Given the description of an element on the screen output the (x, y) to click on. 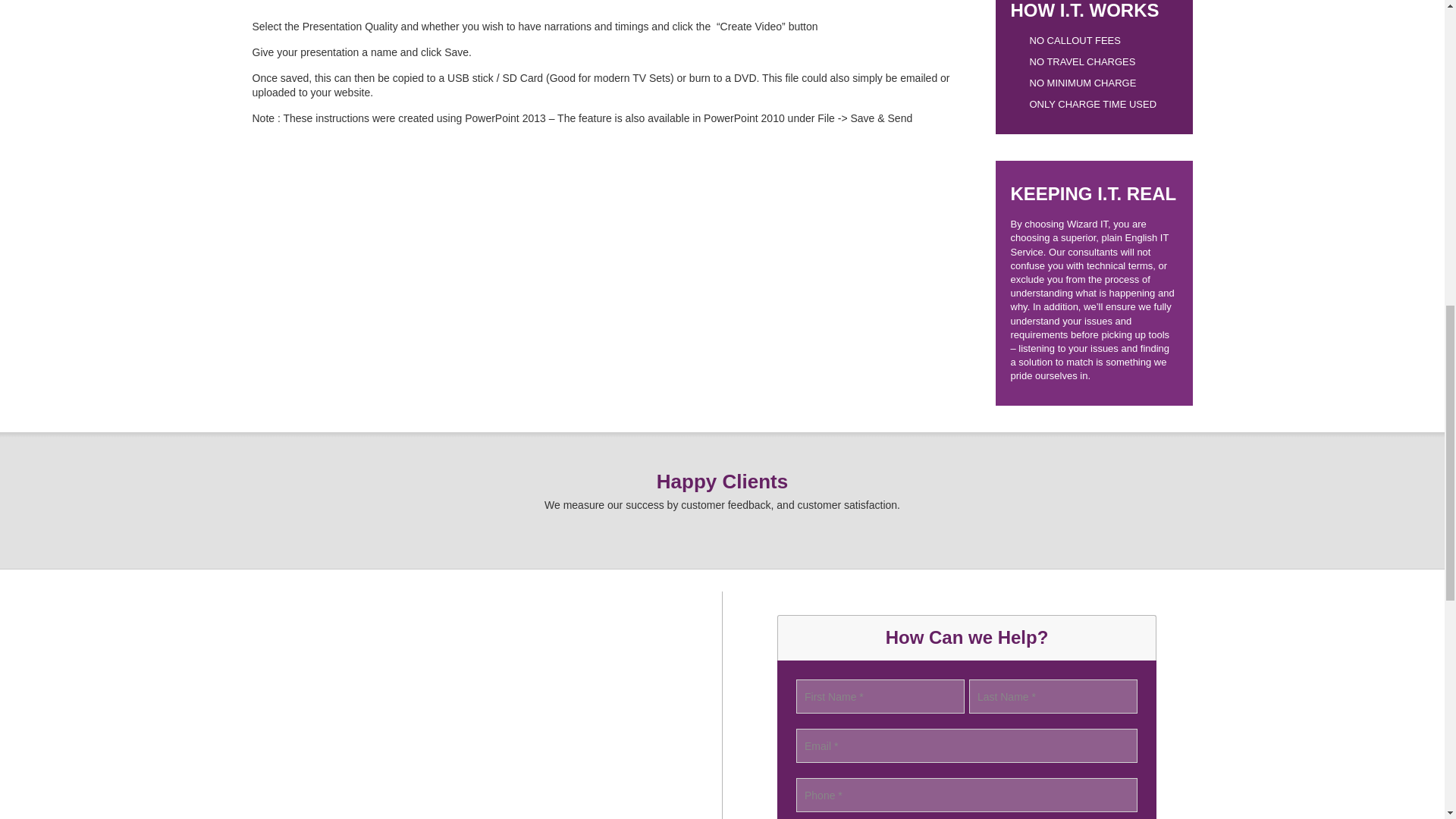
Turn Powerpoint into a video (429, 2)
